Given the description of an element on the screen output the (x, y) to click on. 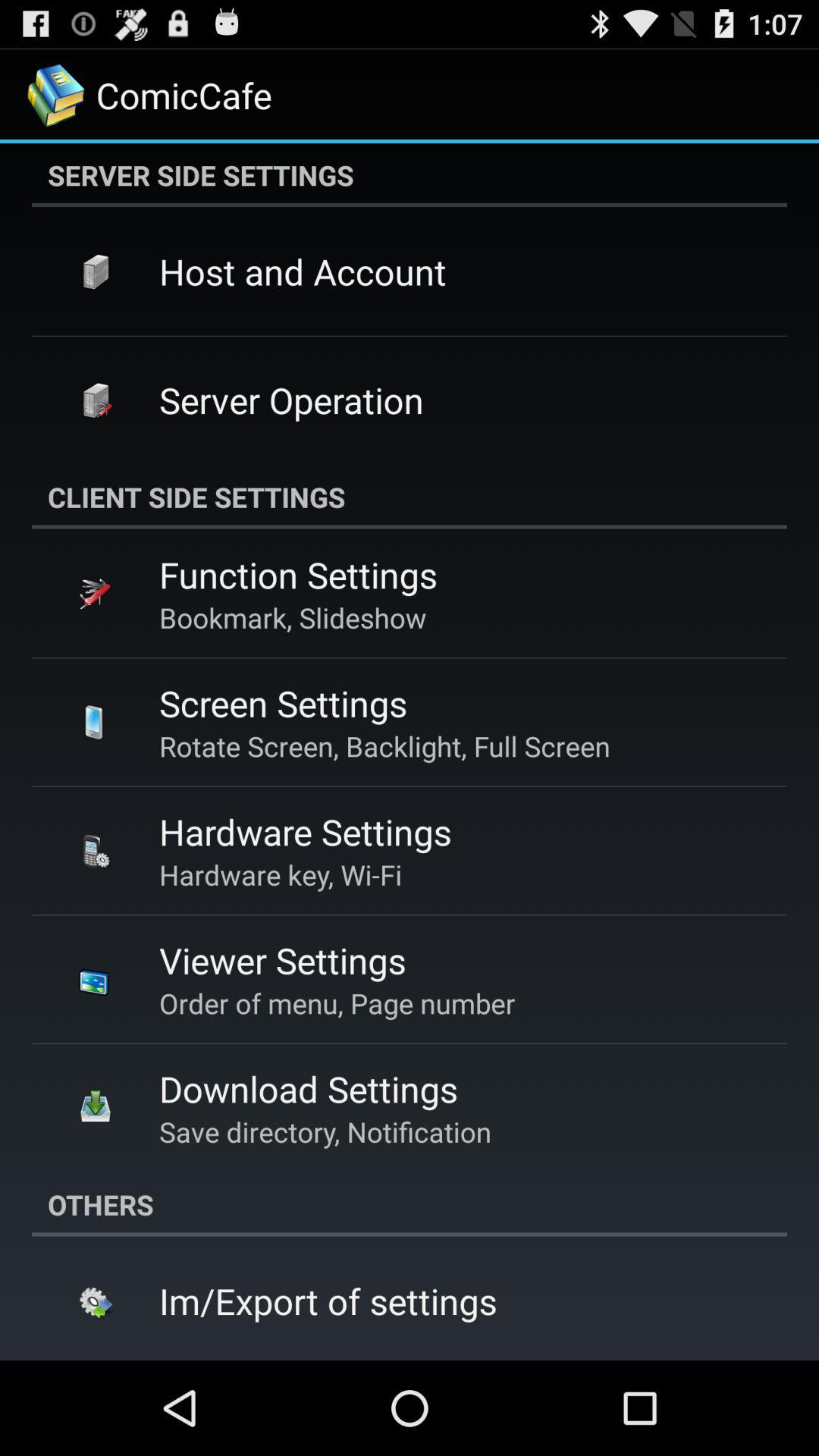
press app above the bookmark, slideshow (298, 574)
